Given the description of an element on the screen output the (x, y) to click on. 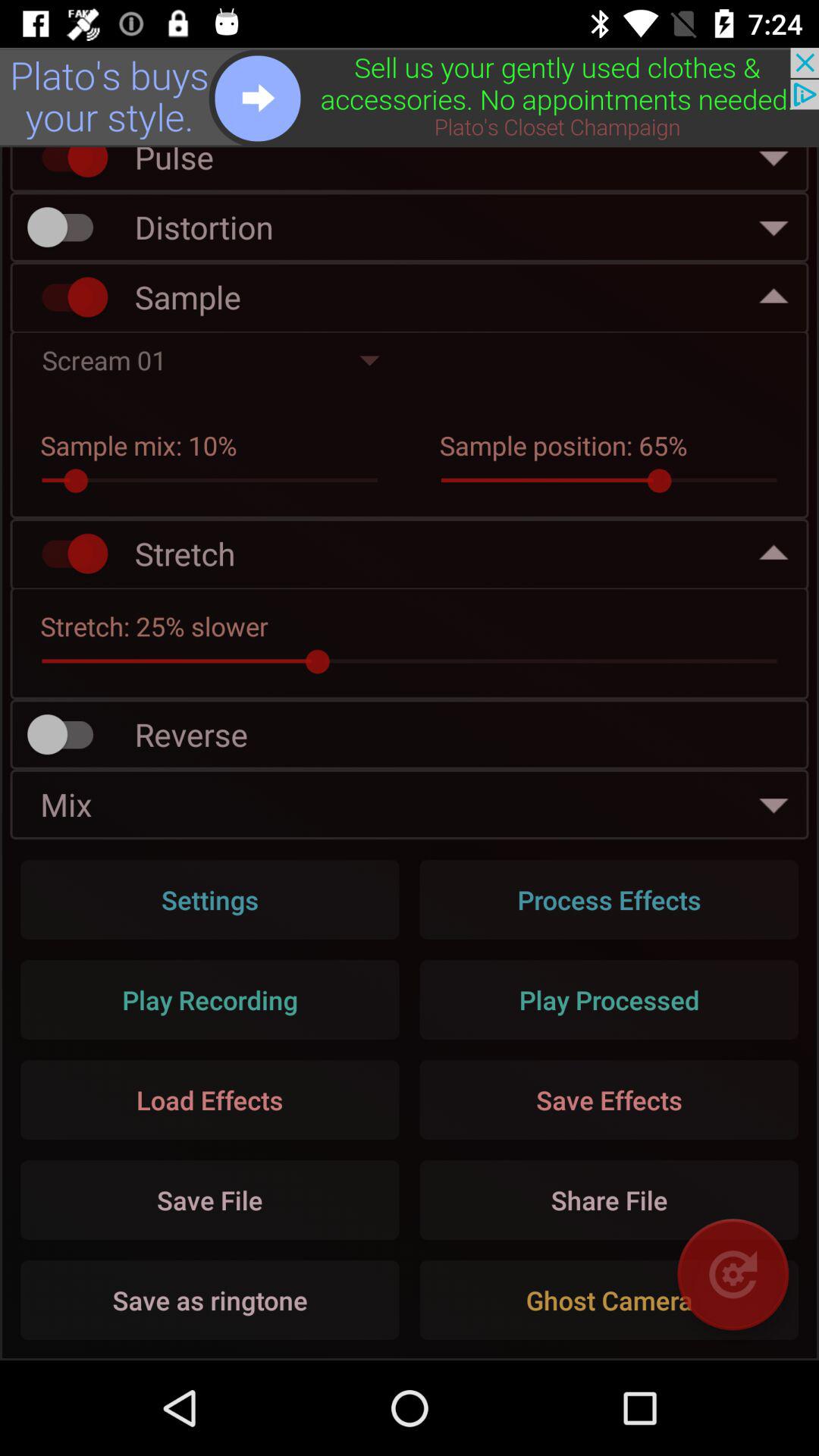
toggle stretch (67, 553)
